Given the description of an element on the screen output the (x, y) to click on. 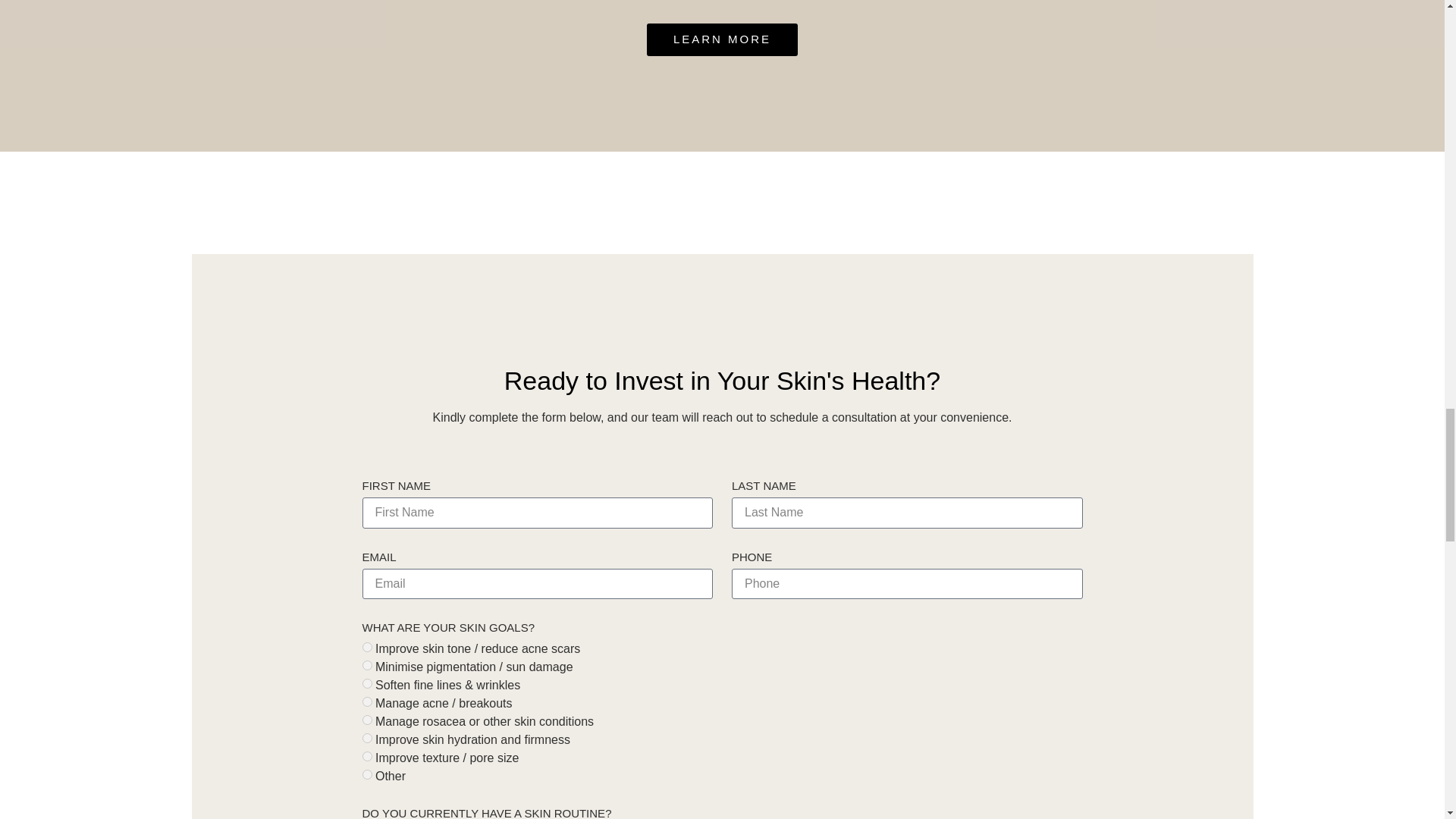
Manage rosacea or other skin conditions (367, 719)
Improve skin hydration and firmness (367, 737)
Other (367, 774)
